Given the description of an element on the screen output the (x, y) to click on. 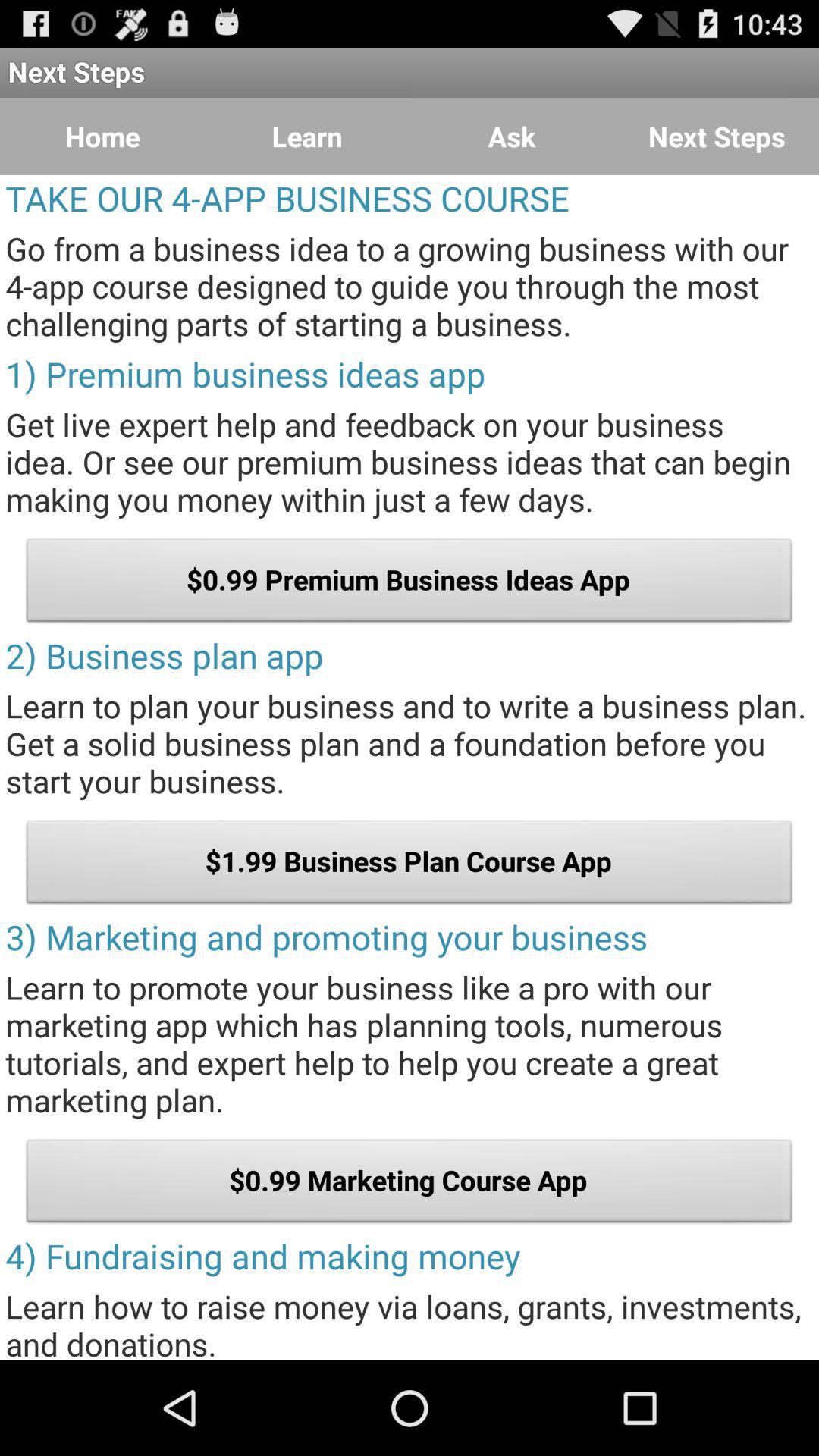
launch the item to the left of next steps icon (511, 136)
